Given the description of an element on the screen output the (x, y) to click on. 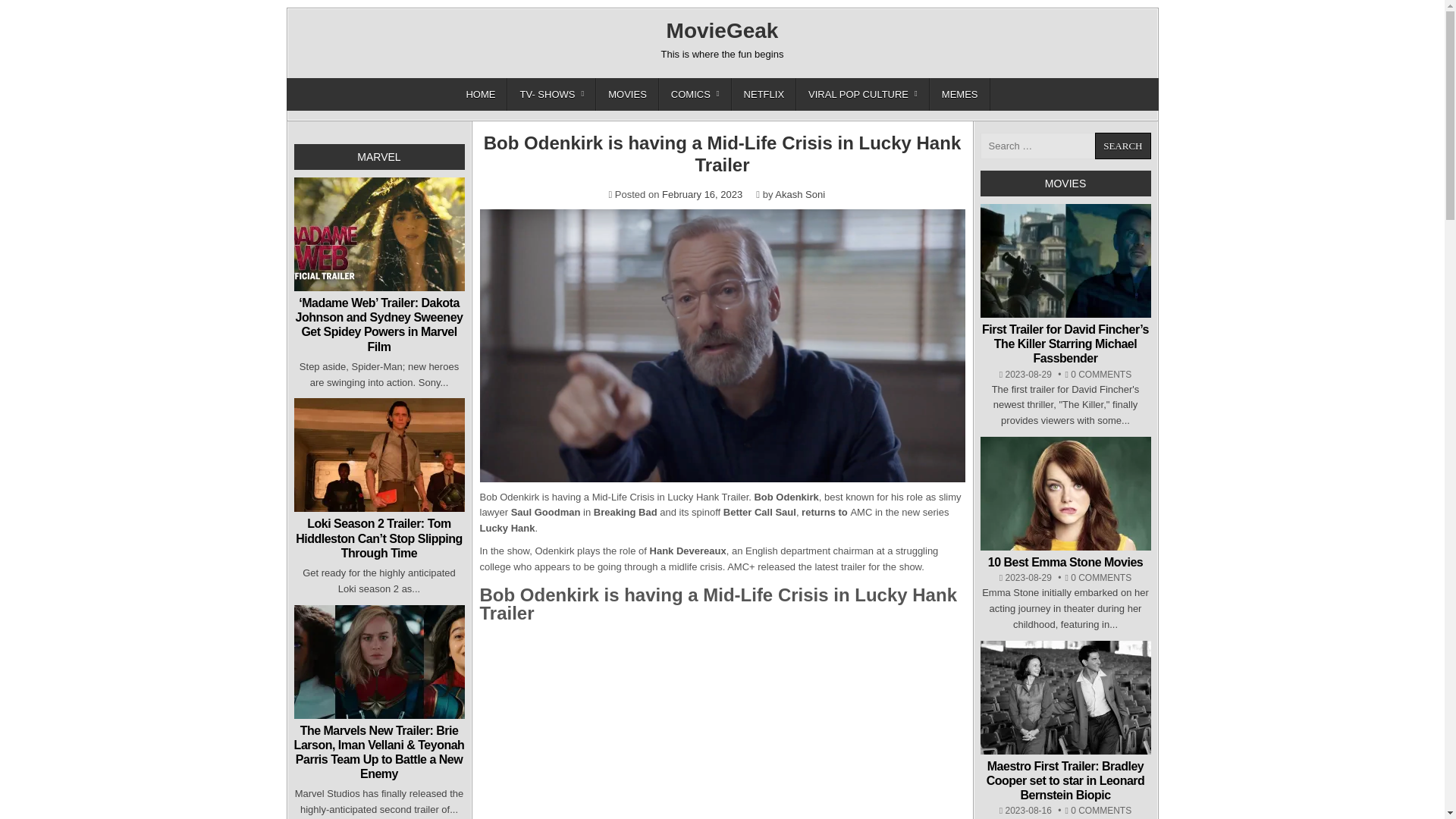
MEMES (960, 93)
TV- SHOWS (550, 93)
Search (1122, 145)
February 16, 2023 (702, 194)
HOME (480, 93)
YouTube video player (721, 726)
MOVIES (627, 93)
Search (1122, 145)
Akash Soni (799, 194)
MovieGeak (722, 30)
NETFLIX (764, 93)
COMICS (695, 93)
VIRAL POP CULTURE (863, 93)
